Given the description of an element on the screen output the (x, y) to click on. 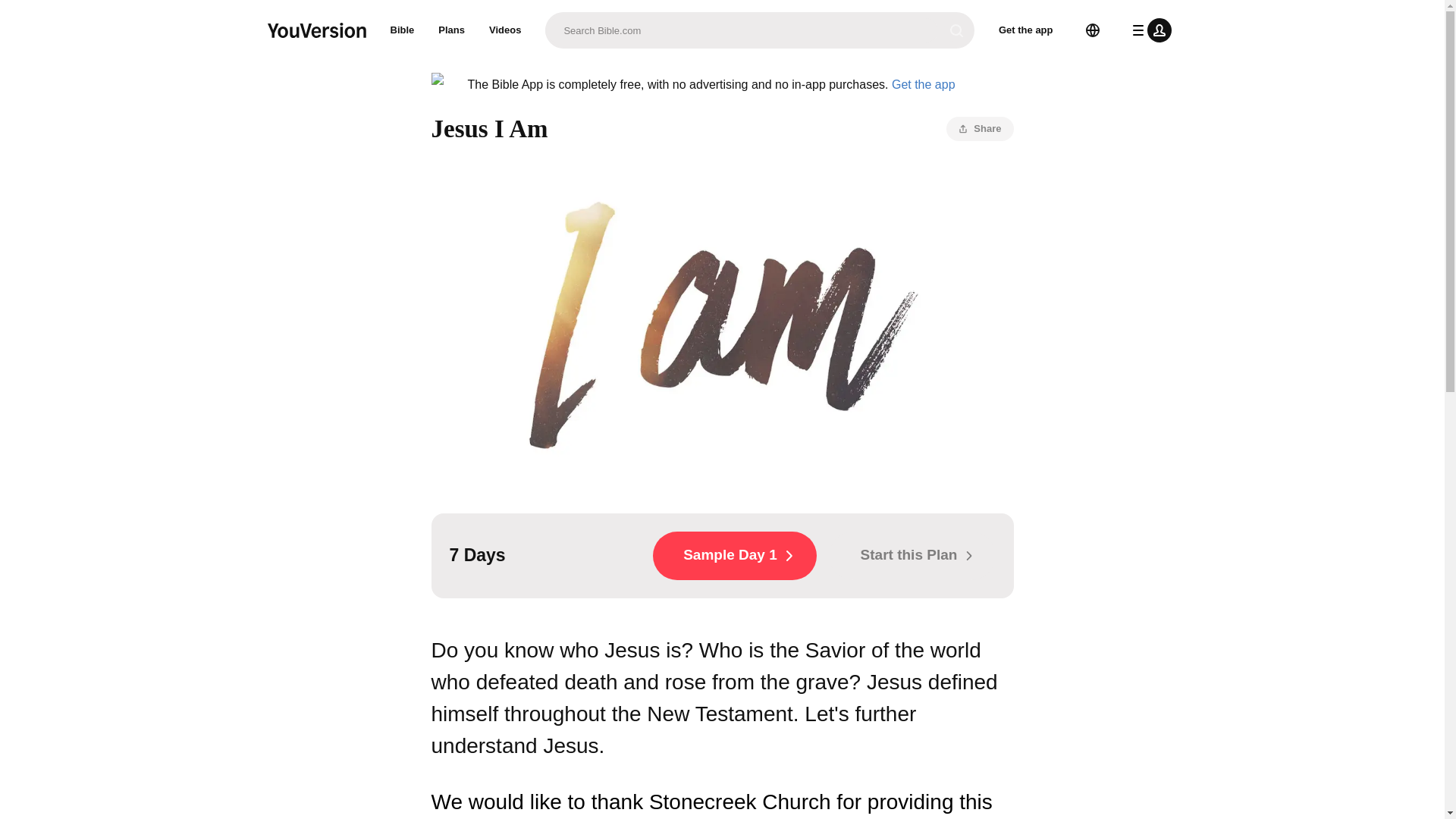
Get the app (1026, 29)
Share (979, 128)
Bible Icon (442, 84)
Get the app (923, 83)
Bible (401, 29)
Sample Day 1 (734, 555)
Plans (451, 29)
Start this Plan (911, 555)
Videos (504, 29)
